Given the description of an element on the screen output the (x, y) to click on. 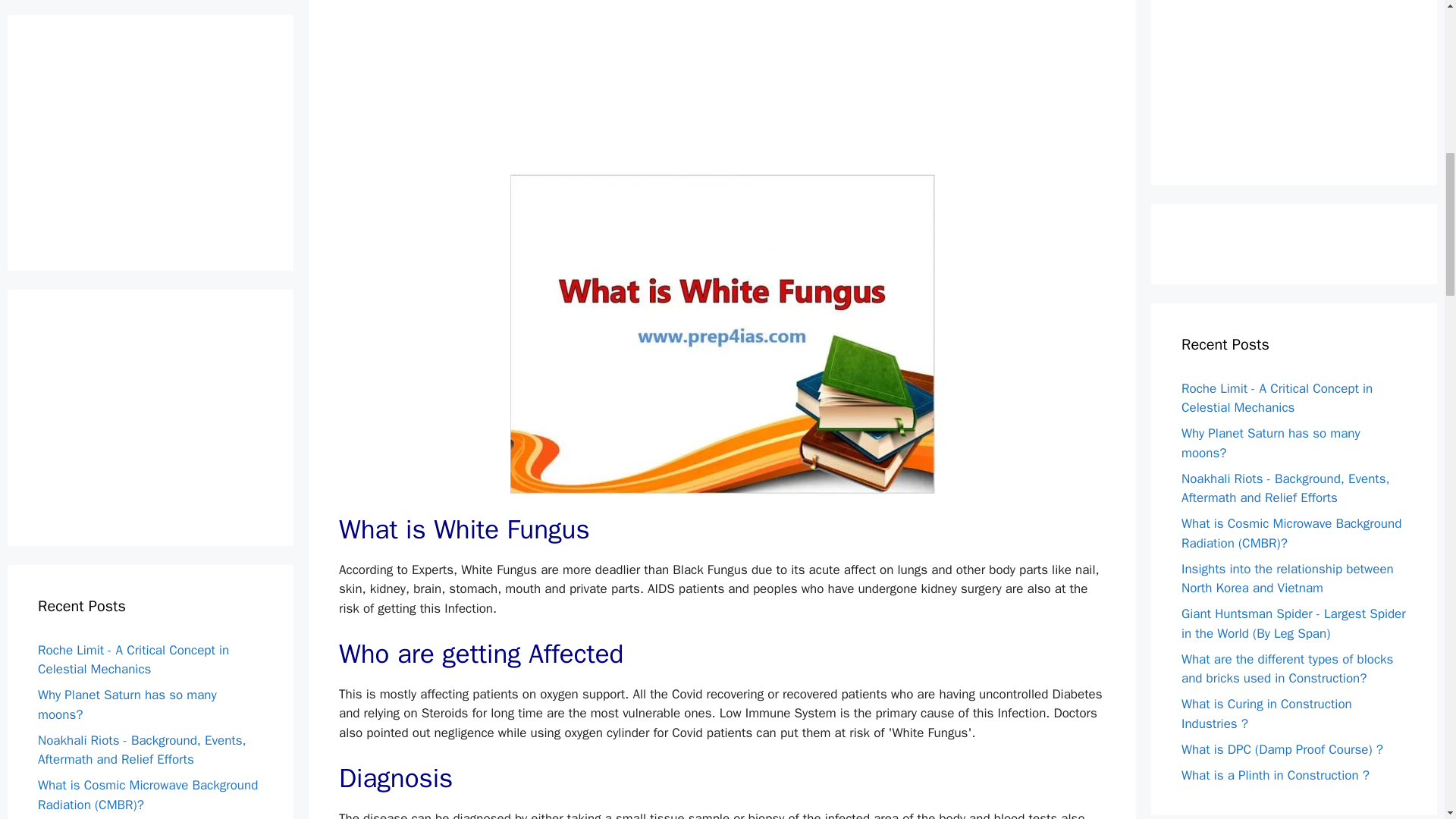
Roche Limit - A Critical Concept in Celestial Mechanics (1276, 398)
Why Planet Saturn has so many moons? (126, 68)
Advertisement (1294, 74)
Roche Limit - A Critical Concept in Celestial Mechanics (132, 24)
